Given the description of an element on the screen output the (x, y) to click on. 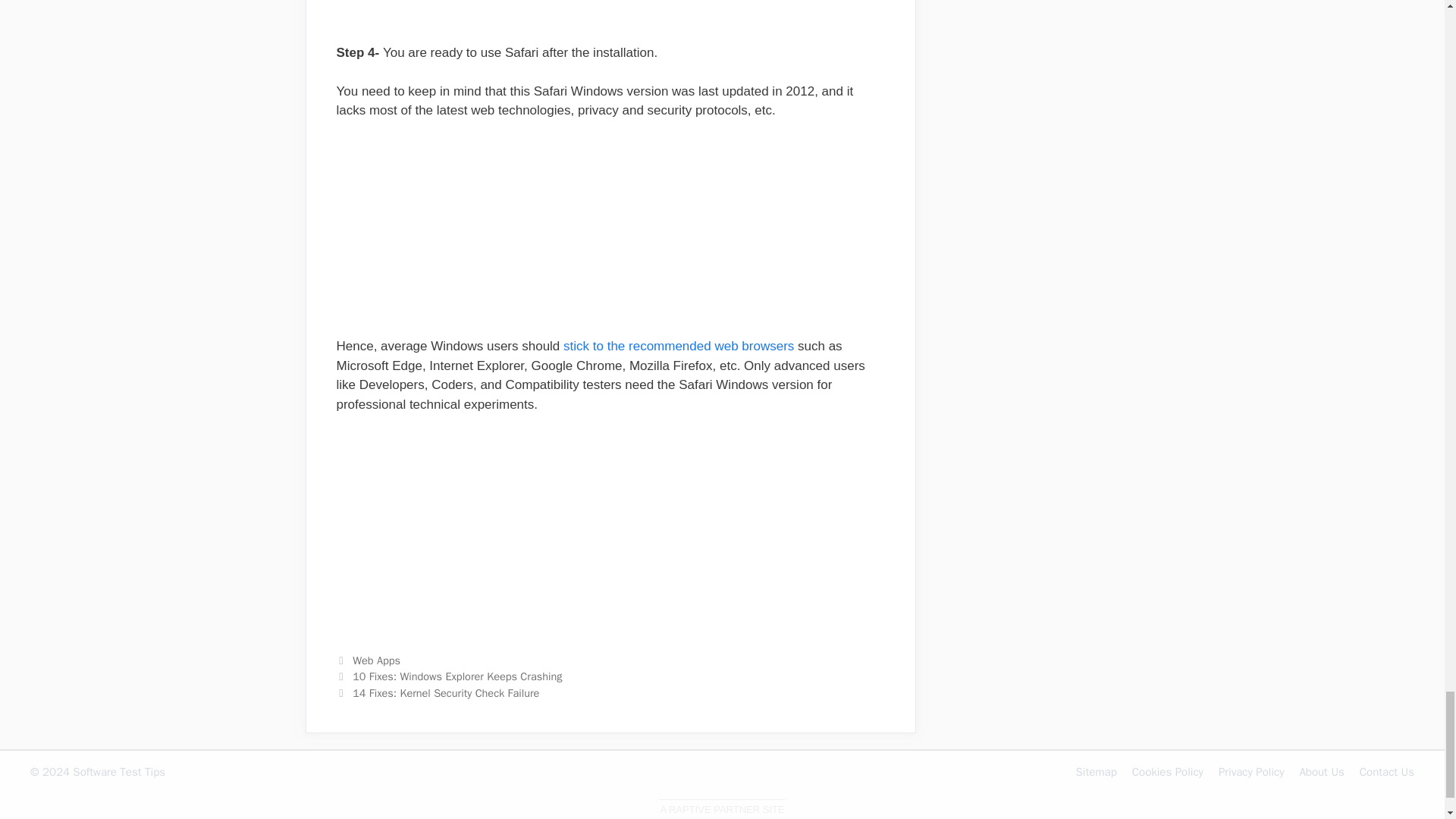
10 Fixes: Windows Explorer Keeps Crashing (457, 676)
Web Apps (376, 660)
Cookies Policy (1168, 771)
Privacy Policy (1251, 771)
Sitemap (1095, 771)
14 Fixes: Kernel Security Check Failure (445, 693)
Complete the Windows Safari Installation process (610, 11)
stick to the recommended web browsers (678, 345)
